Given the description of an element on the screen output the (x, y) to click on. 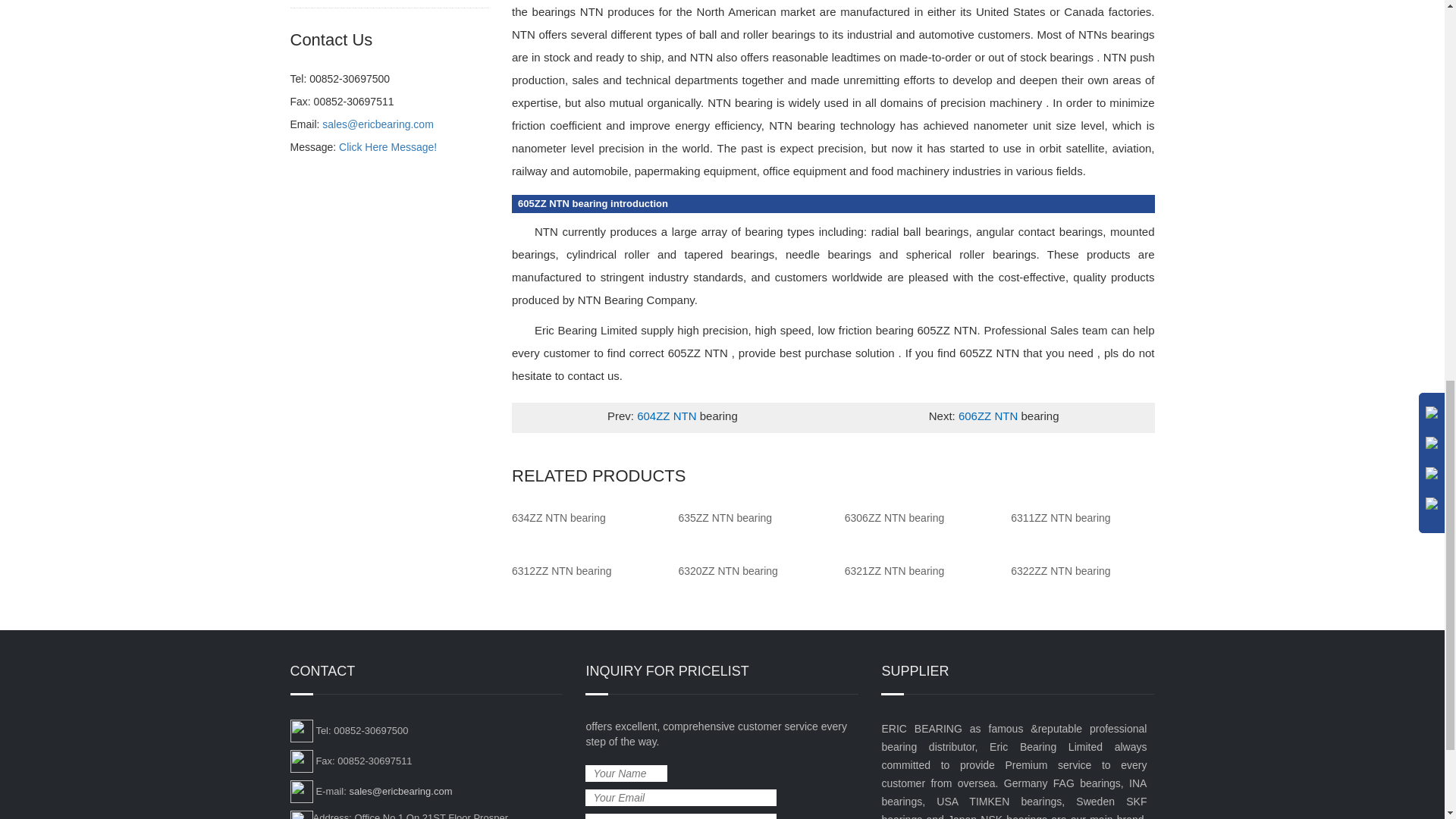
6321ZZ NTN (894, 571)
6312ZZ NTN (561, 571)
635ZZ NTN (724, 517)
634ZZ NTN (558, 517)
6311ZZ NTN (1060, 517)
6322ZZ NTN (1060, 571)
6320ZZ NTN (727, 571)
6306ZZ NTN (894, 517)
